Given the description of an element on the screen output the (x, y) to click on. 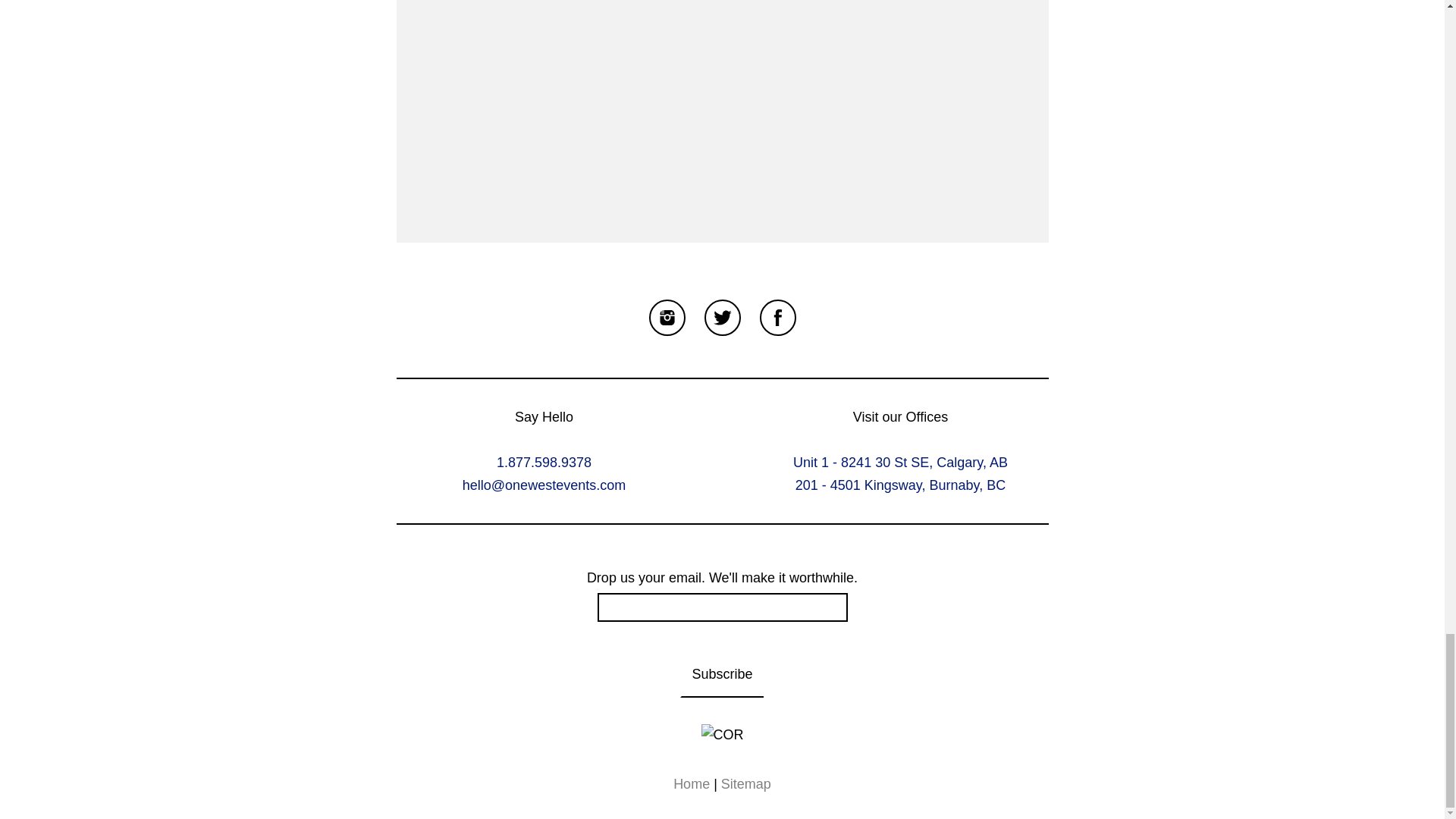
Subscribe (720, 674)
Sitemap (745, 783)
Home (691, 783)
Unit 1 - 8241 30 St SE, Calgary, AB (900, 462)
201 - 4501 Kingsway, Burnaby, BC (900, 485)
1.877.598.9378 (543, 462)
Home (691, 783)
Sitemap (745, 783)
